Given the description of an element on the screen output the (x, y) to click on. 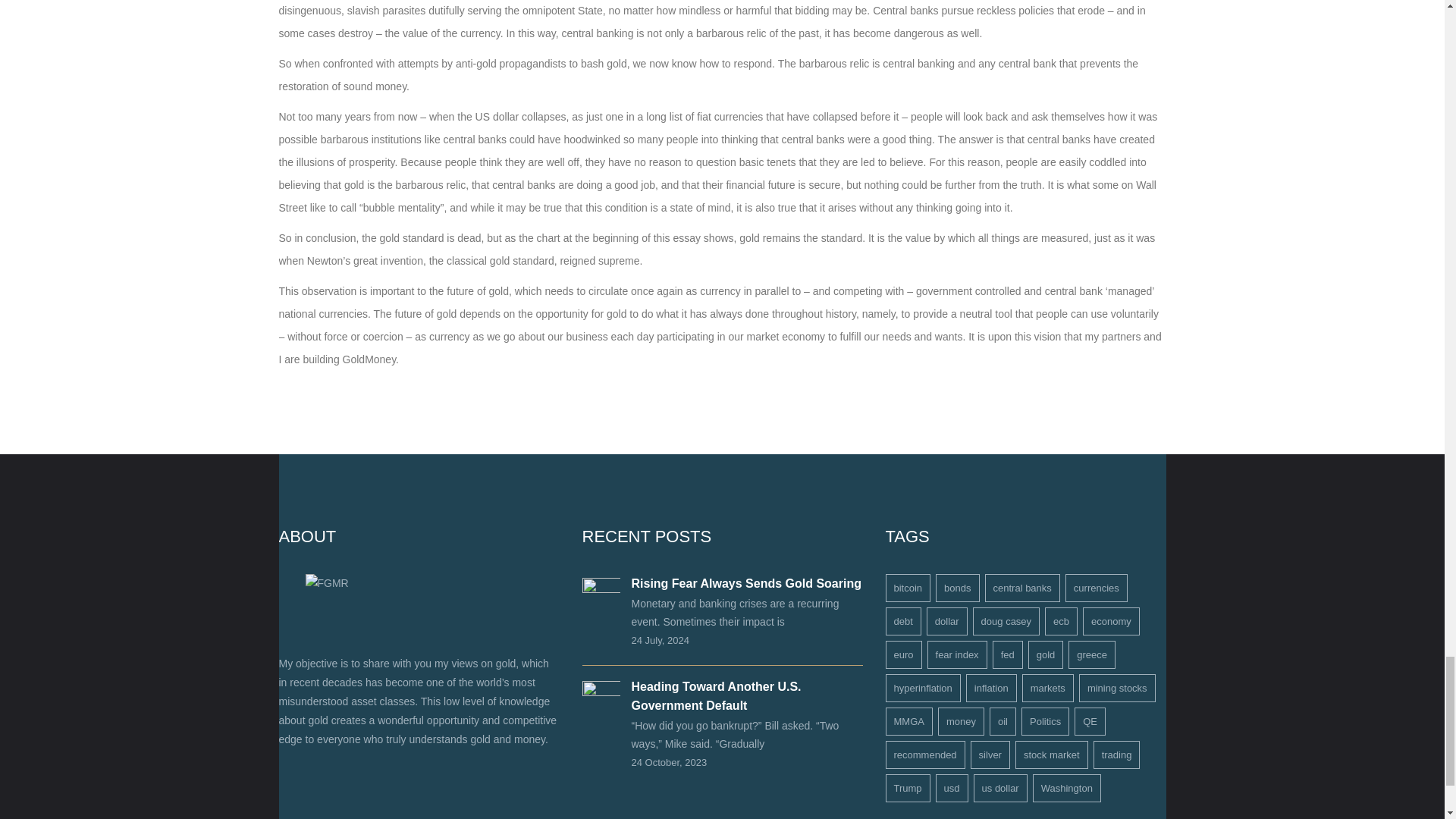
5 topics (947, 621)
7 topics (957, 587)
3 topics (1021, 587)
markets (1048, 687)
Heading Toward Another U.S. Government Default (715, 695)
dollar (947, 621)
euro (903, 654)
fed (1007, 654)
MMGA (909, 721)
bonds (957, 587)
